Given the description of an element on the screen output the (x, y) to click on. 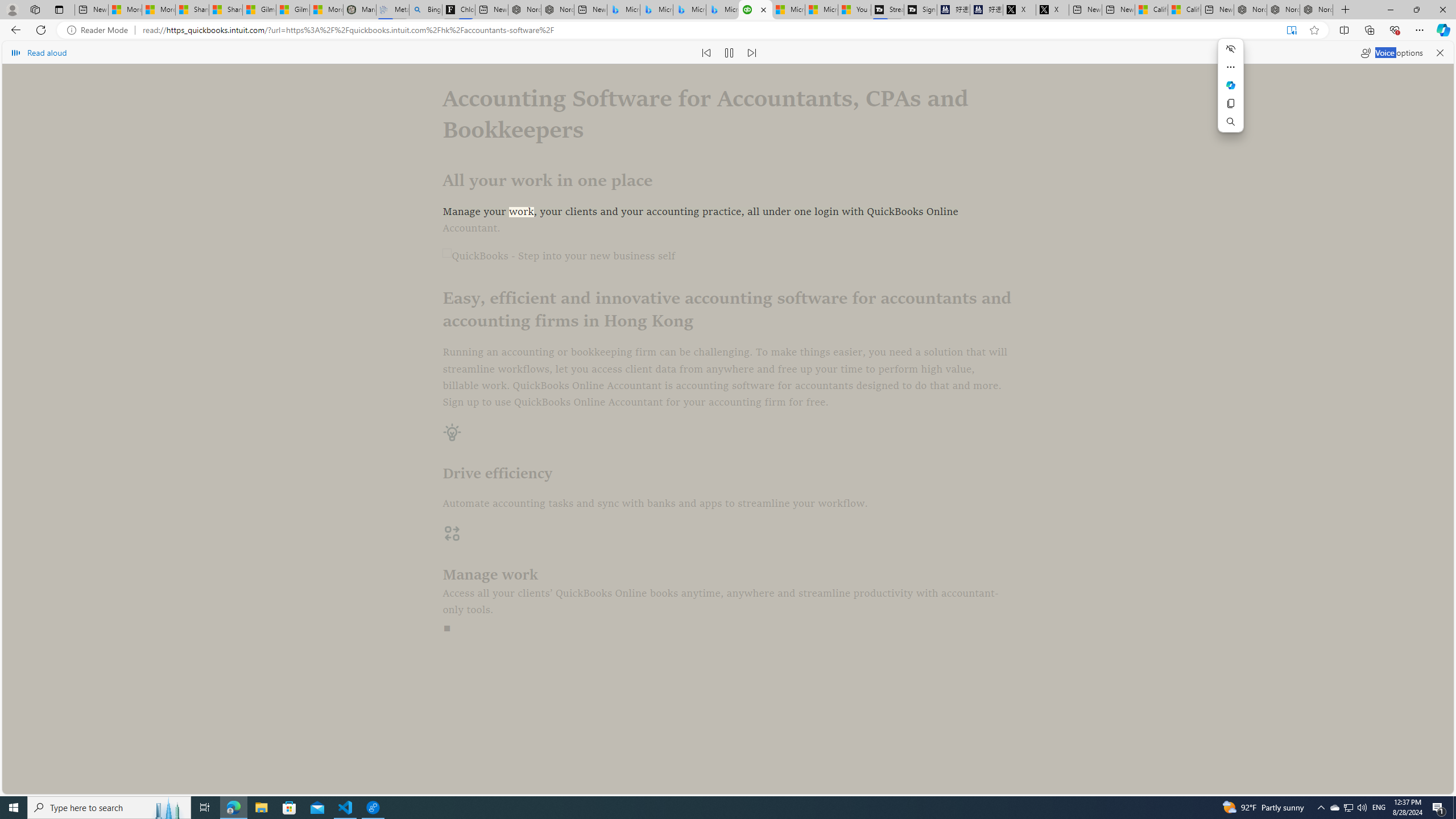
Pause read aloud (Ctrl+Shift+U) (729, 52)
Hide menu (1230, 49)
Accounting Software for Accountants, CPAs and Bookkeepers (755, 9)
Nordace Siena Pro 15 Backpack (1283, 9)
